Given the description of an element on the screen output the (x, y) to click on. 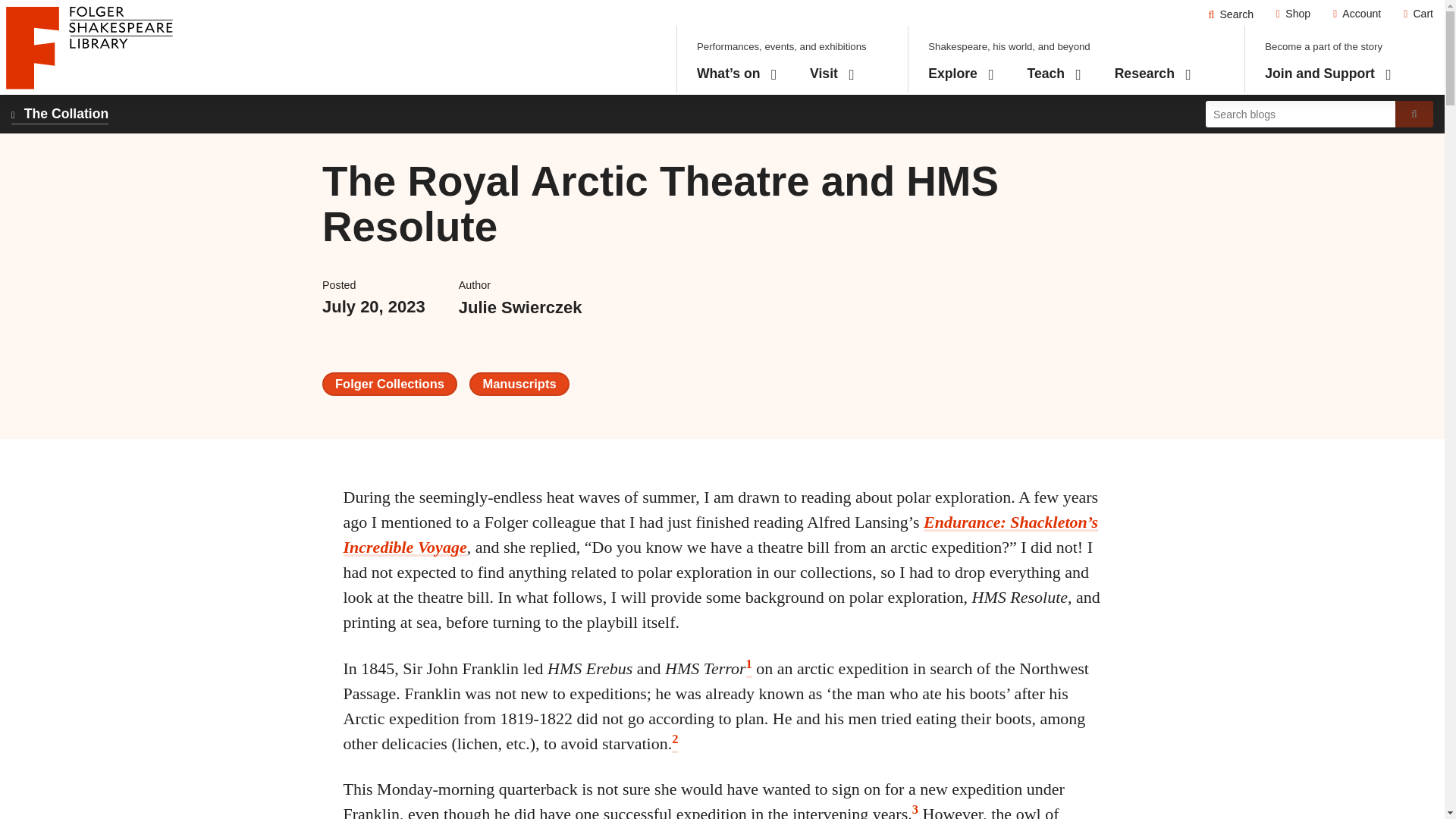
Explore (961, 73)
Folger Shakespeare Library - Home (89, 47)
Account (1356, 13)
Research (1152, 73)
Teach (1053, 73)
Shop (1293, 13)
Visit (831, 73)
